Given the description of an element on the screen output the (x, y) to click on. 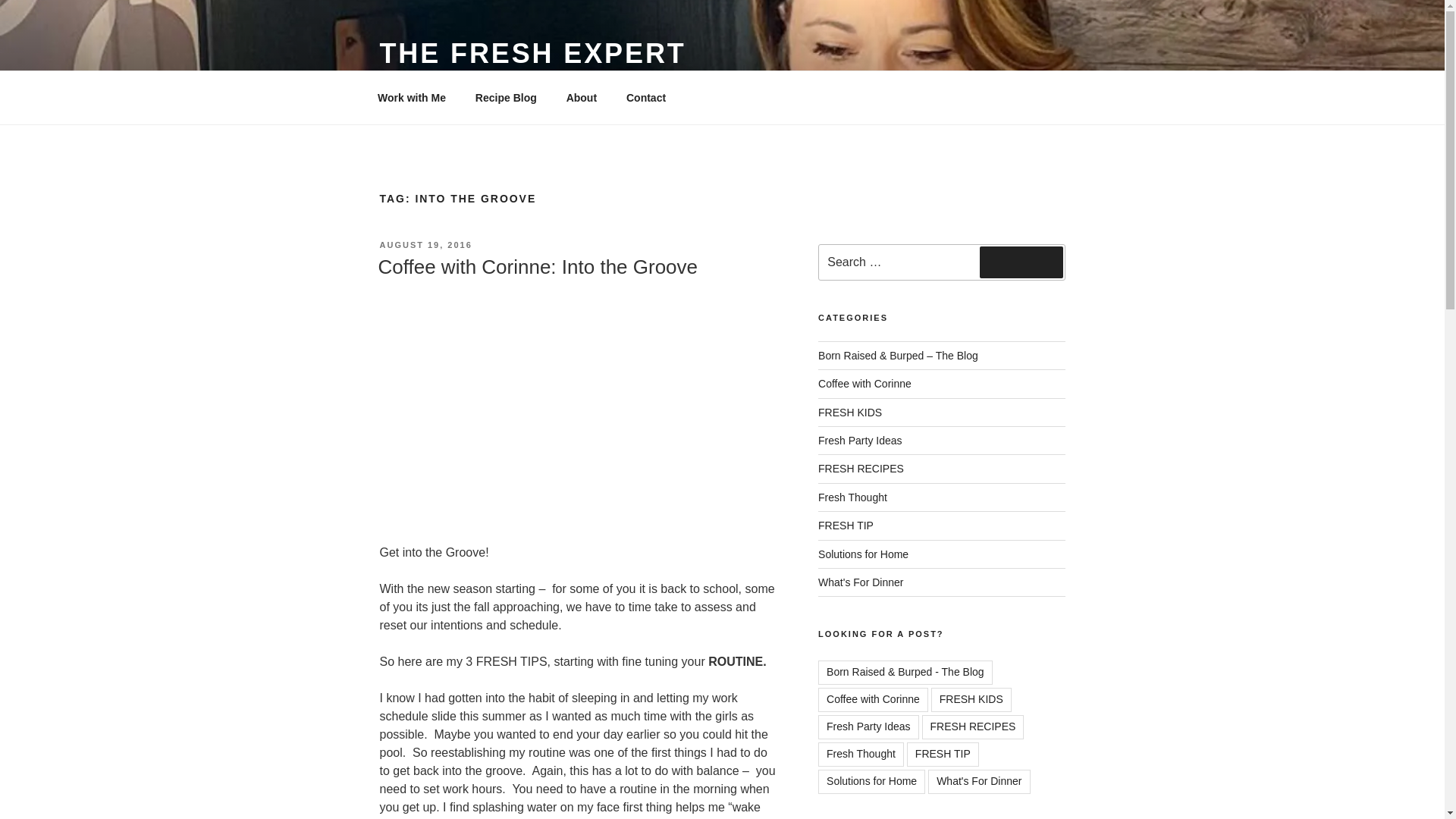
FRESH TIP (942, 754)
Fresh Thought (861, 754)
Search (1020, 262)
Coffee with Corinne: Into the Groove (537, 266)
Fresh Party Ideas (860, 440)
Fresh Thought (852, 497)
Solutions for Home (863, 553)
FRESH KIDS (971, 699)
Recipe Blog (505, 97)
Contact (645, 97)
Coffee with Corinne (873, 699)
FRESH RECIPES (973, 726)
FRESH TIP (845, 525)
THE FRESH EXPERT (531, 52)
What's For Dinner (978, 781)
